Given the description of an element on the screen output the (x, y) to click on. 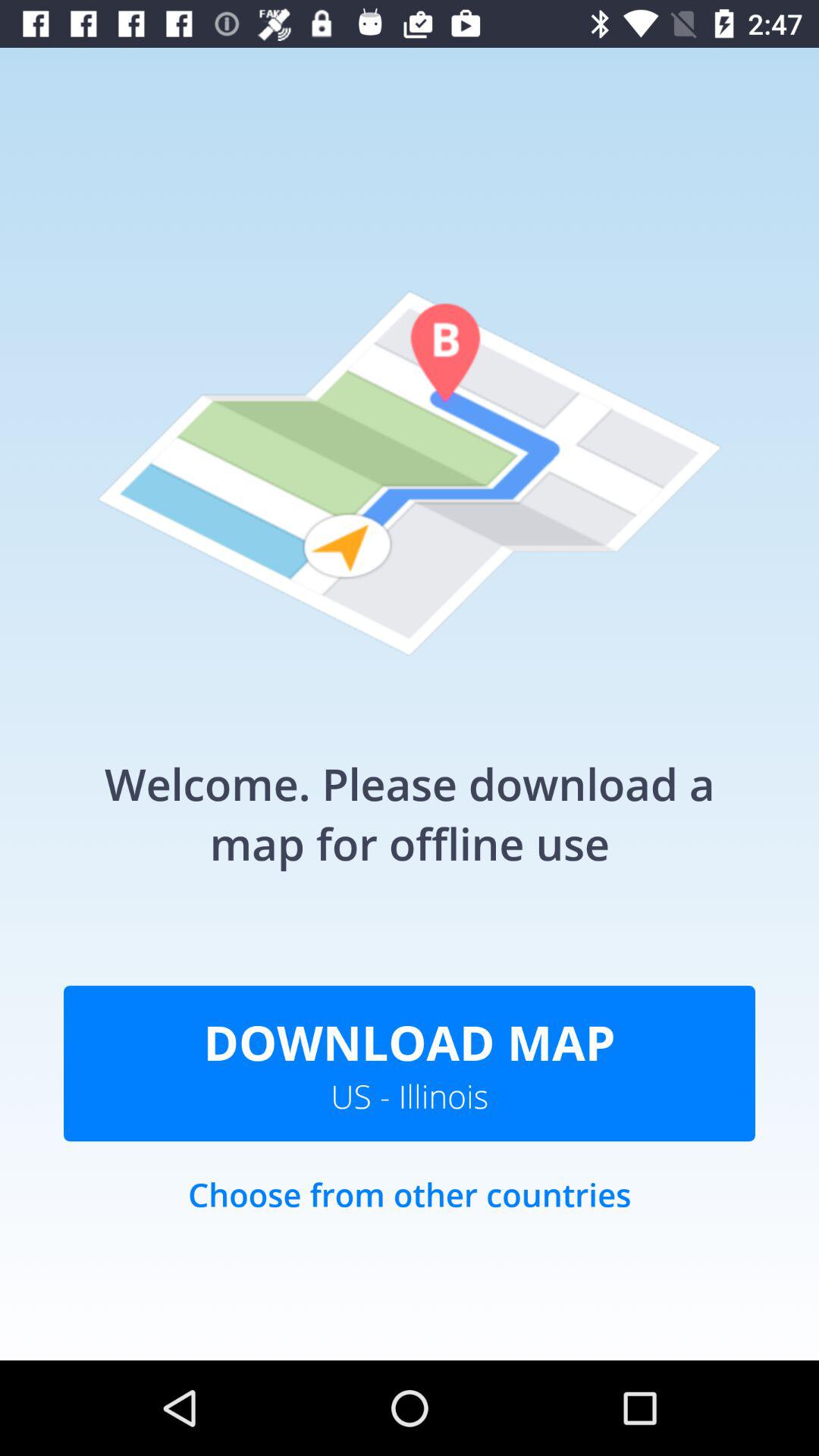
flip to choose from other icon (409, 1210)
